Given the description of an element on the screen output the (x, y) to click on. 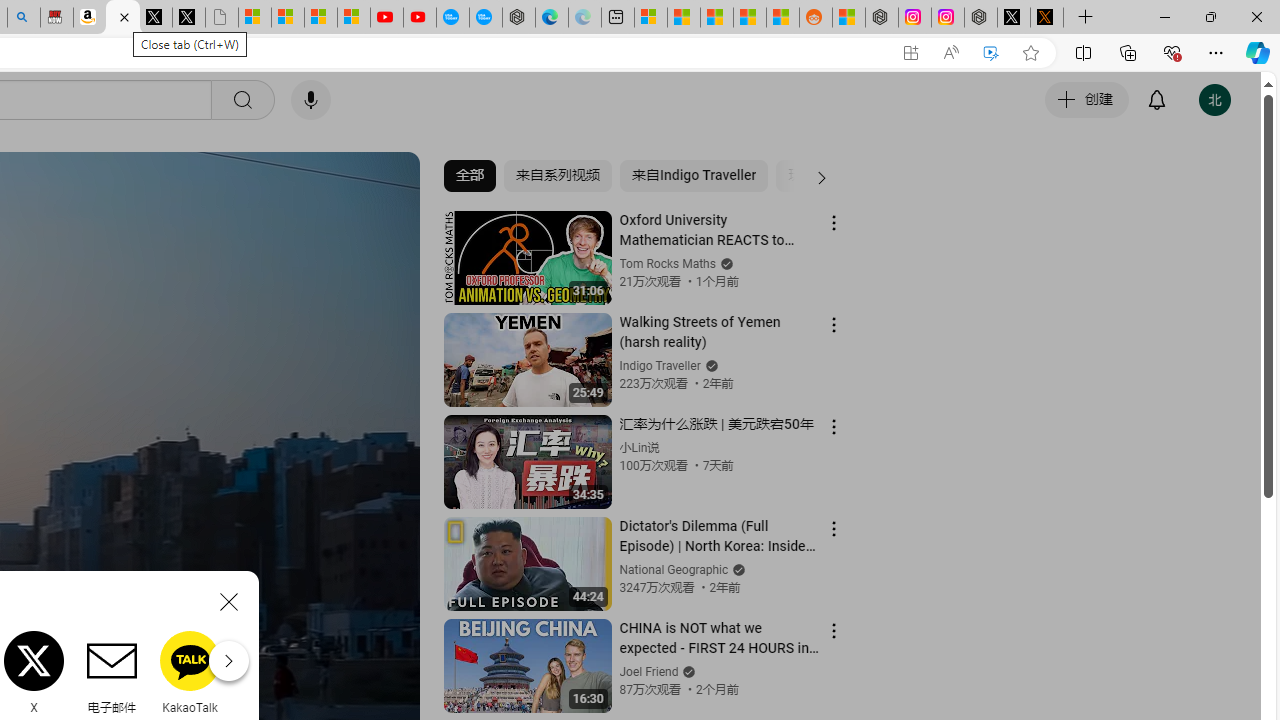
Reddit (267, 672)
Enhance video (991, 53)
